Given the description of an element on the screen output the (x, y) to click on. 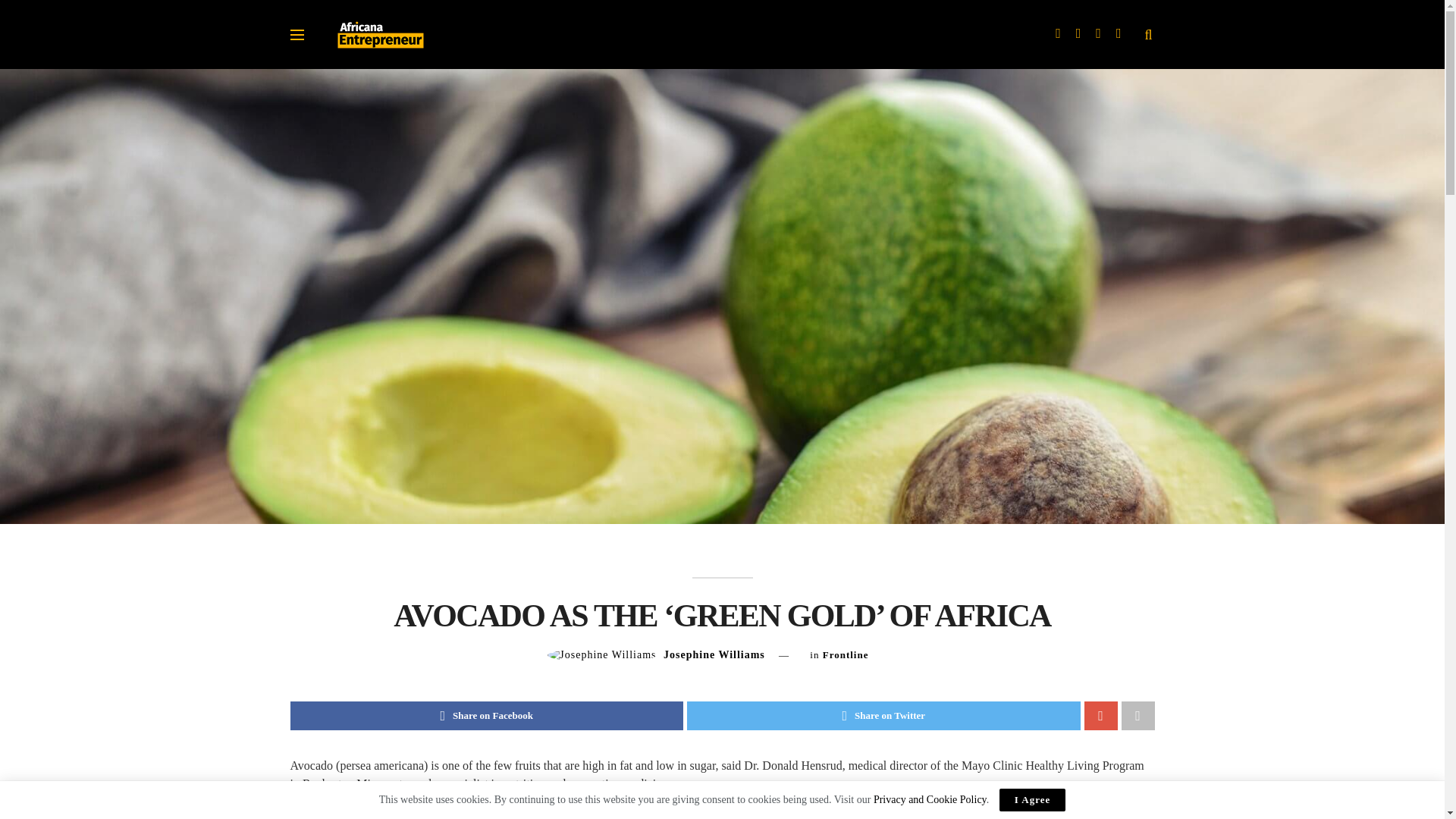
Share on Facebook (485, 715)
Frontline (845, 654)
Josephine Williams (714, 654)
Share on Twitter (883, 715)
